Given the description of an element on the screen output the (x, y) to click on. 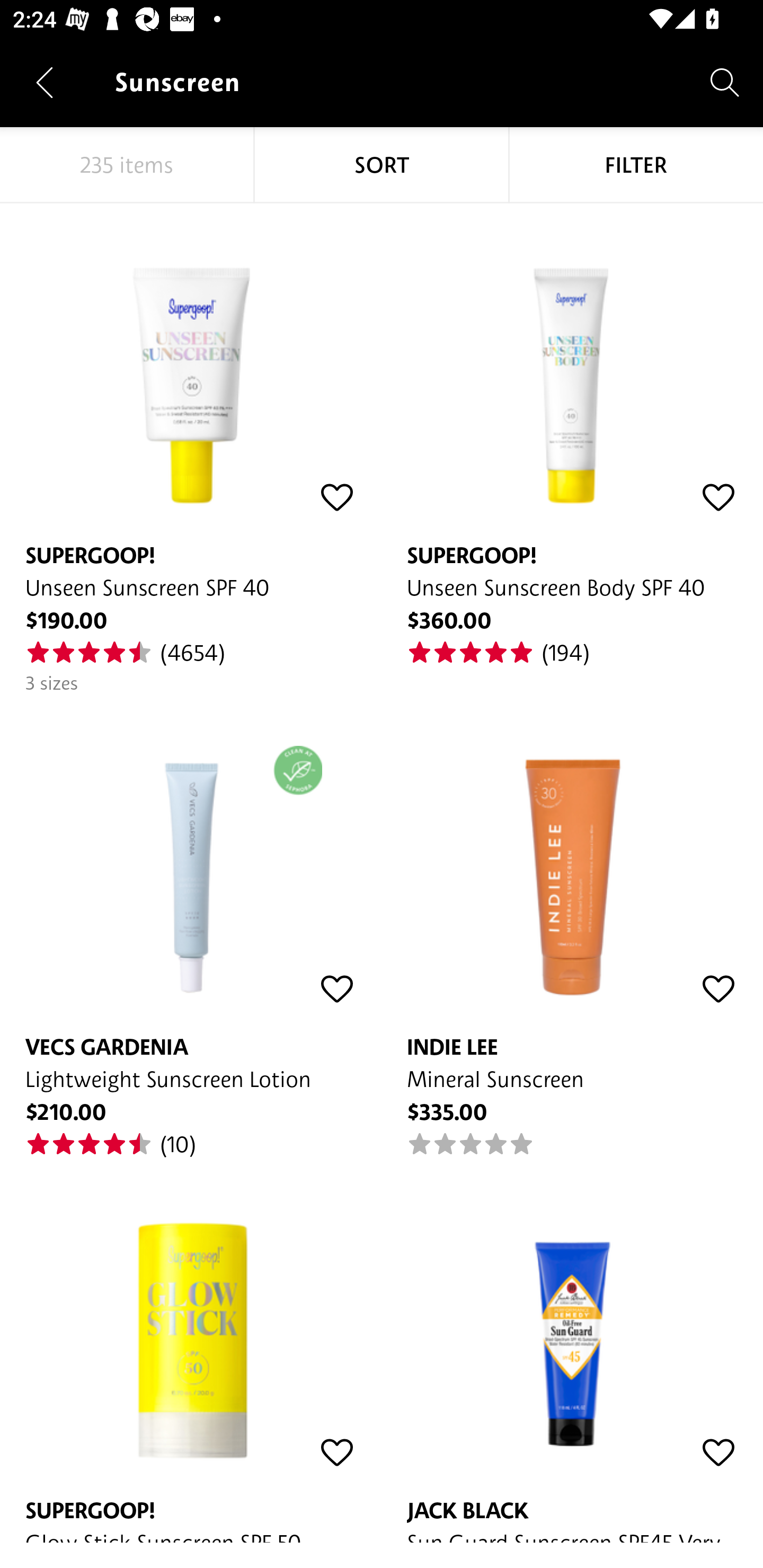
Navigate up (44, 82)
Search (724, 81)
SORT (381, 165)
FILTER (636, 165)
INDIE LEE Mineral Sunscreen $335.00 (571, 926)
SUPERGOOP! Glow Stick Sunscreen SPF 50 $250.00 (190, 1350)
